Given the description of an element on the screen output the (x, y) to click on. 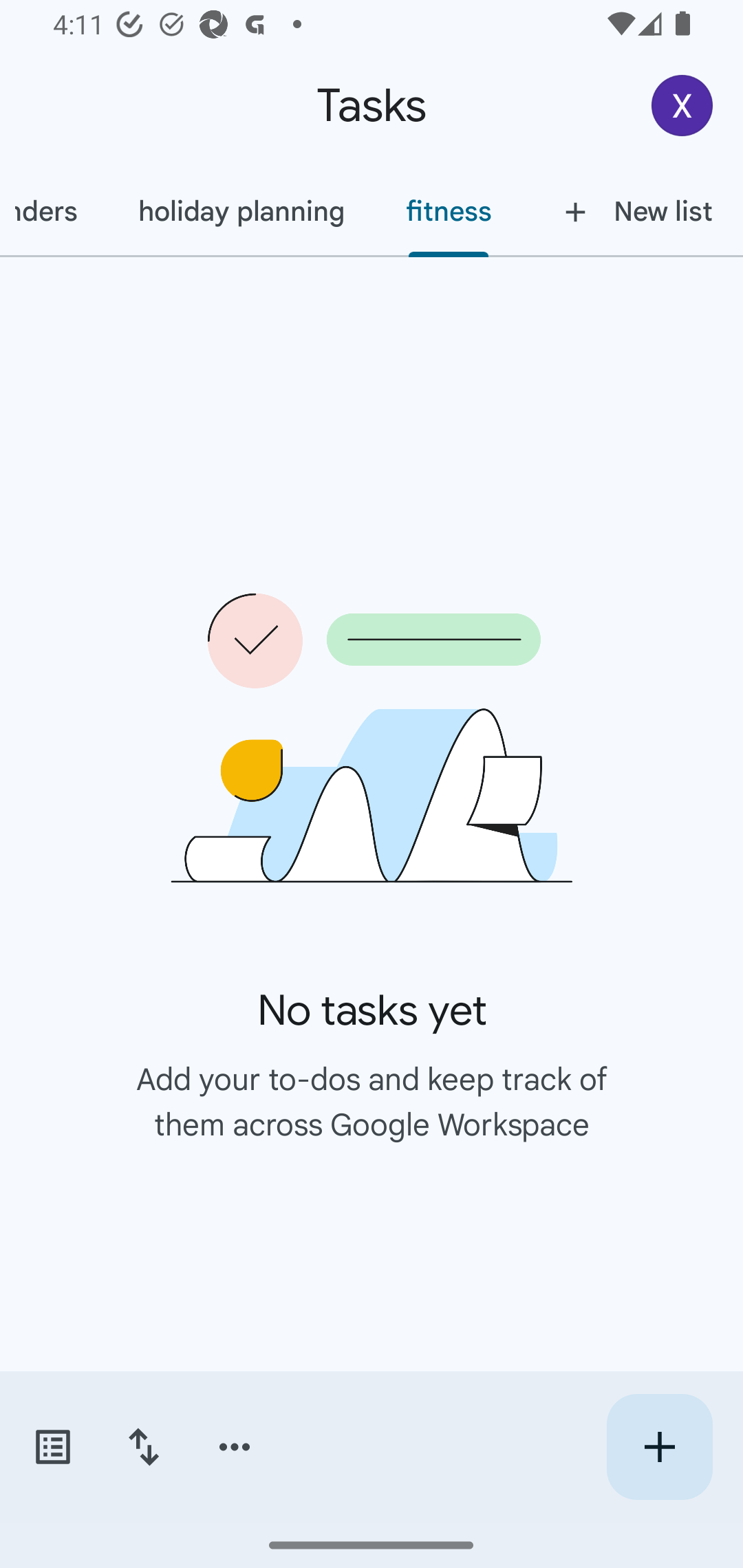
reminders (53, 211)
holiday planning (240, 211)
New list (632, 211)
Switch task lists (52, 1447)
Create new task (659, 1446)
Change sort order (143, 1446)
More options (234, 1446)
